Given the description of an element on the screen output the (x, y) to click on. 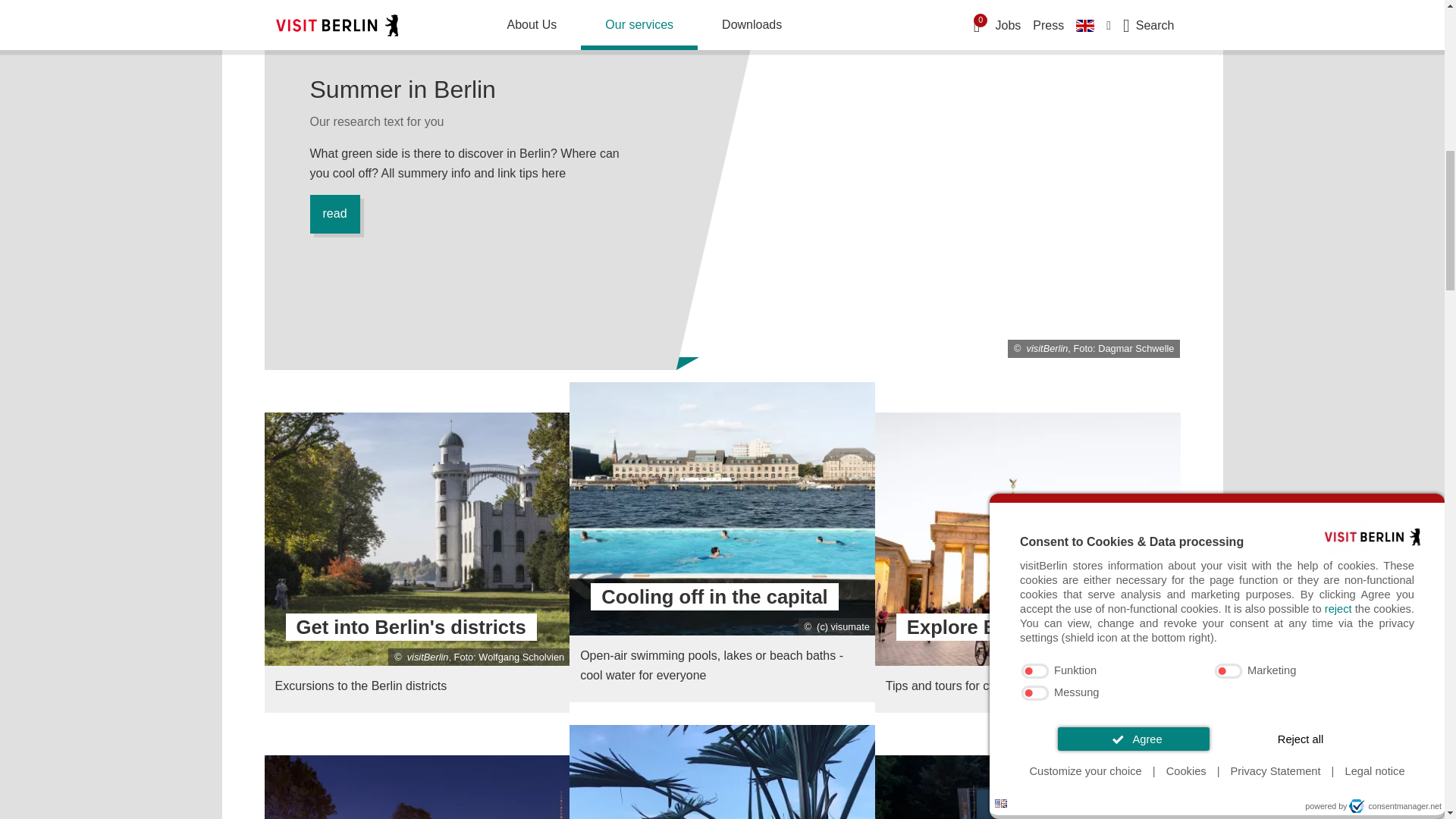
read (333, 213)
Badeschiff Arena  (722, 509)
Excursions to the Berlin districts (416, 562)
Die Pfaueninsel im Herbst (416, 539)
Refreshed in Berlin Summer (722, 541)
Through summer on bike (1027, 562)
